Given the description of an element on the screen output the (x, y) to click on. 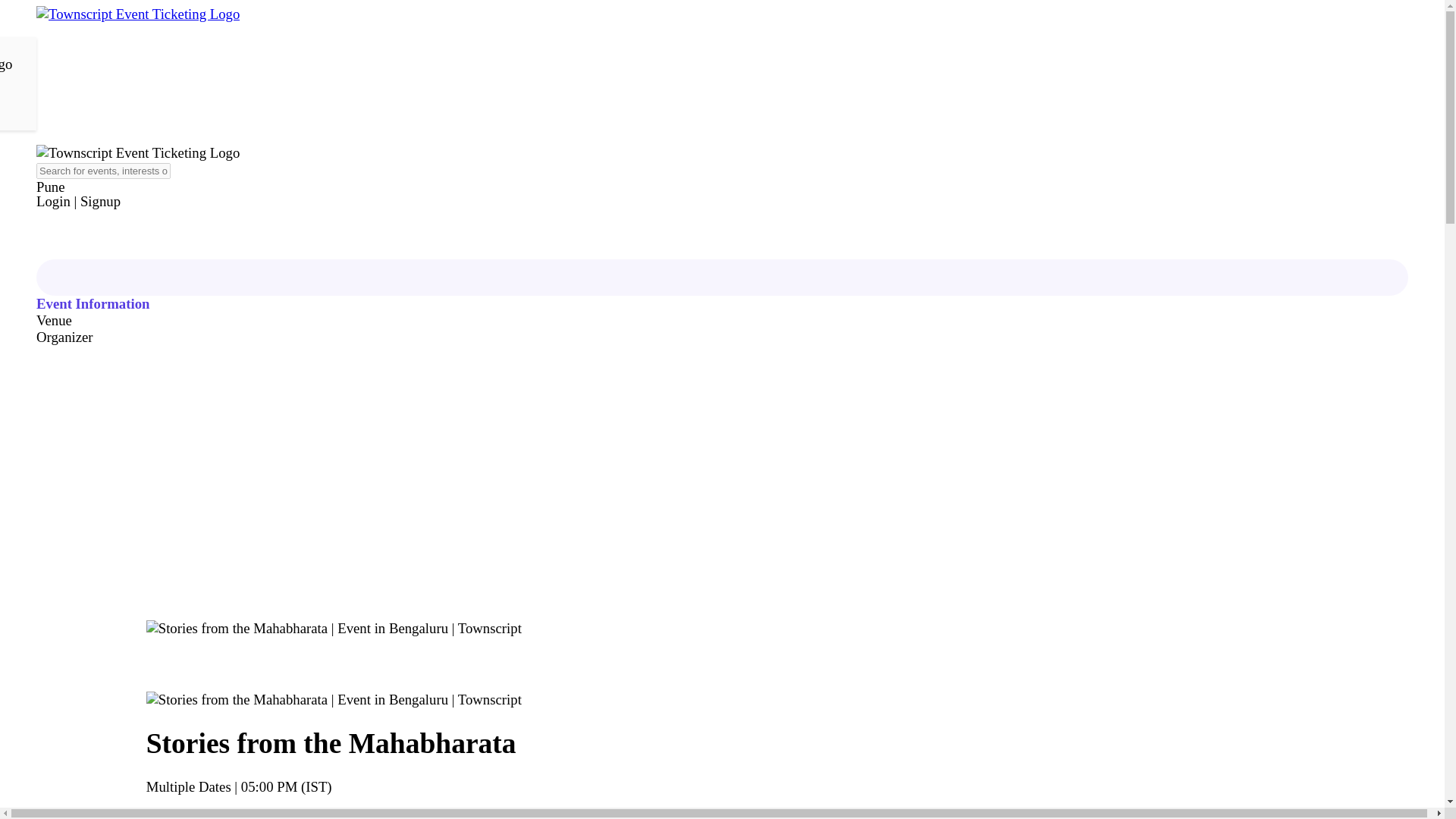
Townscript Event Ticketing Logo (138, 152)
Pune (264, 187)
Townscript Event Ticketing Logo (138, 13)
